Given the description of an element on the screen output the (x, y) to click on. 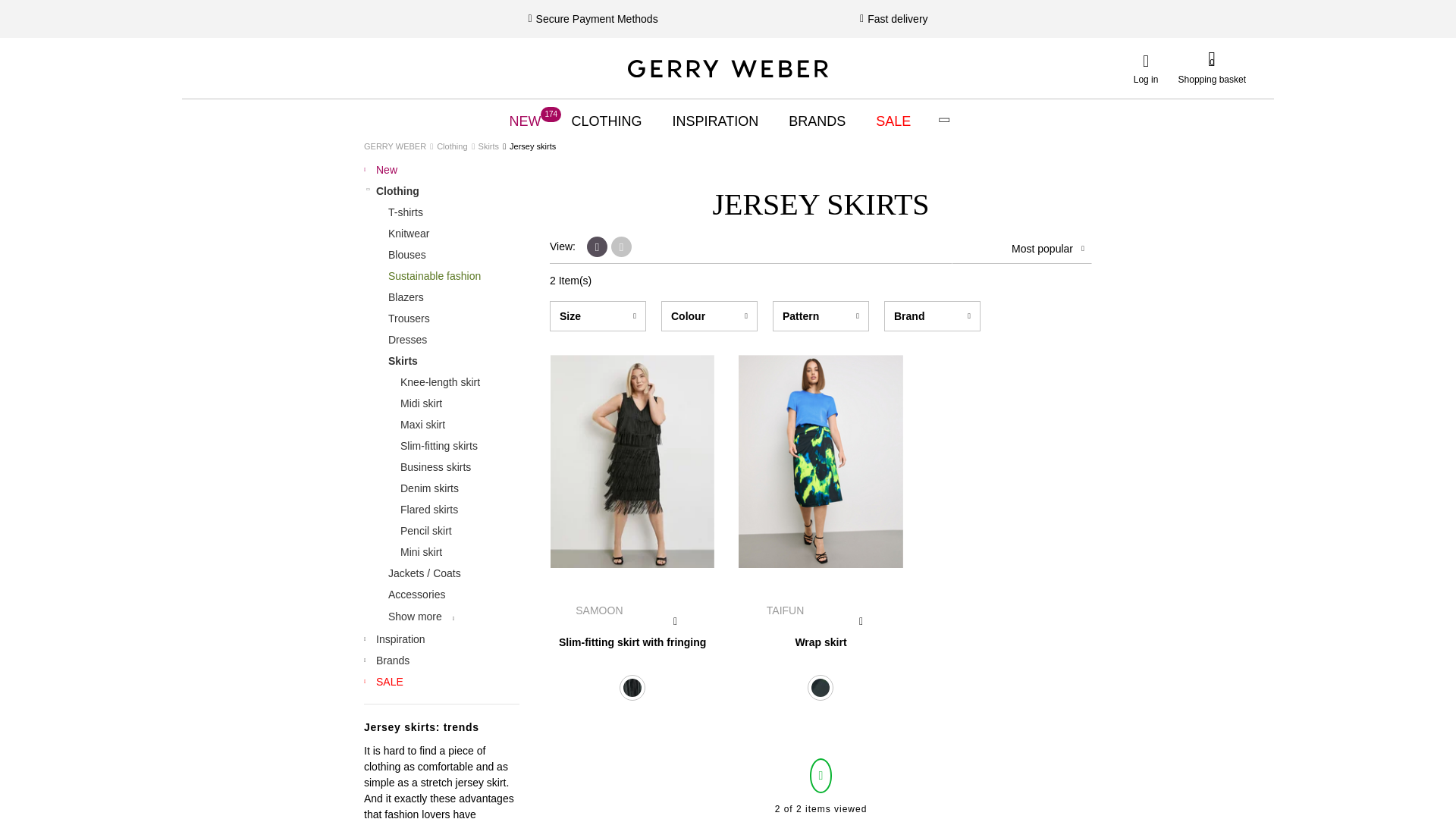
Product view (622, 246)
CLOTHING (1211, 66)
Gerry Weber (606, 120)
Log in (727, 67)
Model view (1145, 68)
